Given the description of an element on the screen output the (x, y) to click on. 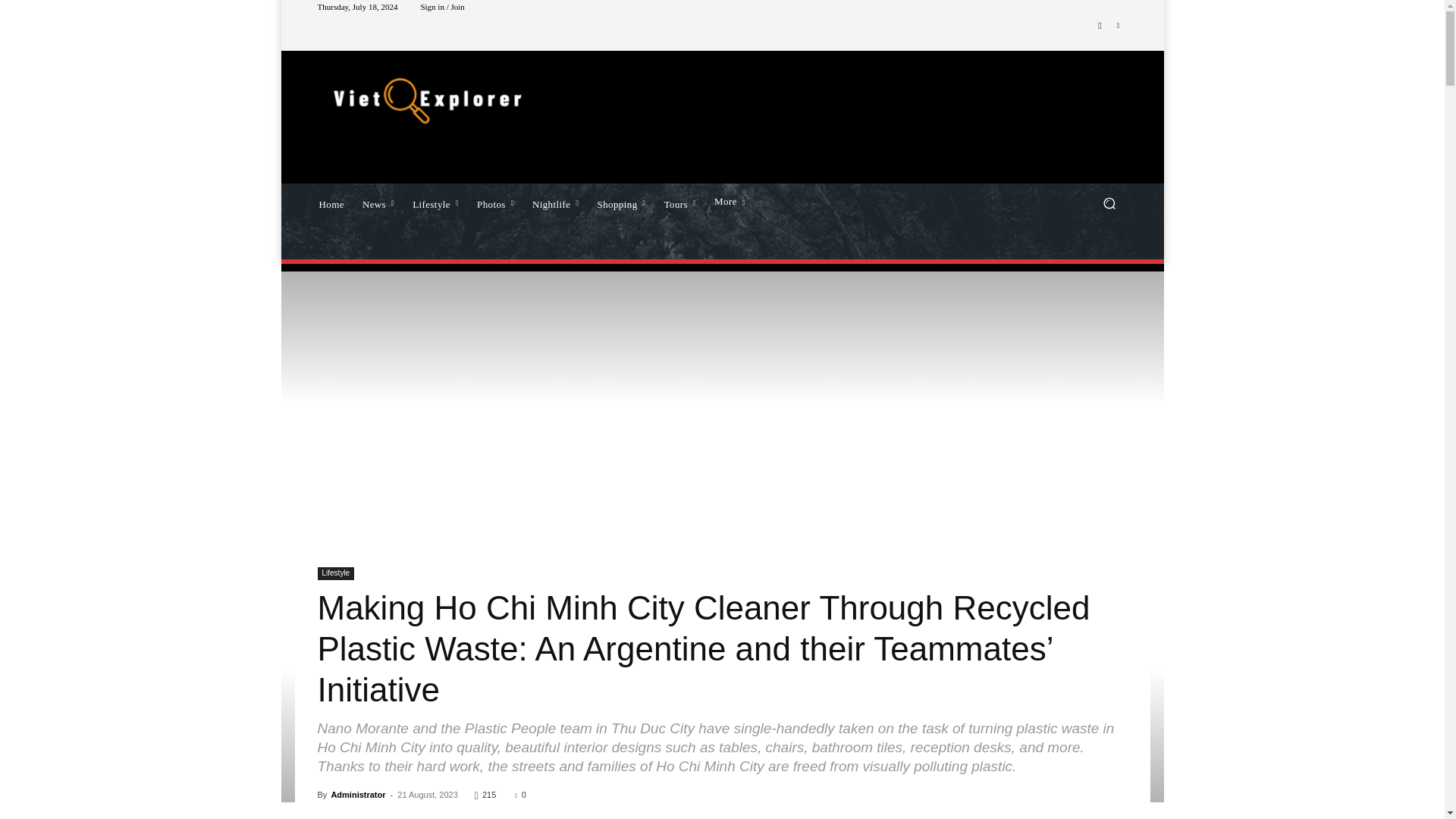
Twitter (1117, 25)
Lifestyle (435, 202)
Home (330, 202)
News (378, 202)
Facebook (1099, 25)
